Given the description of an element on the screen output the (x, y) to click on. 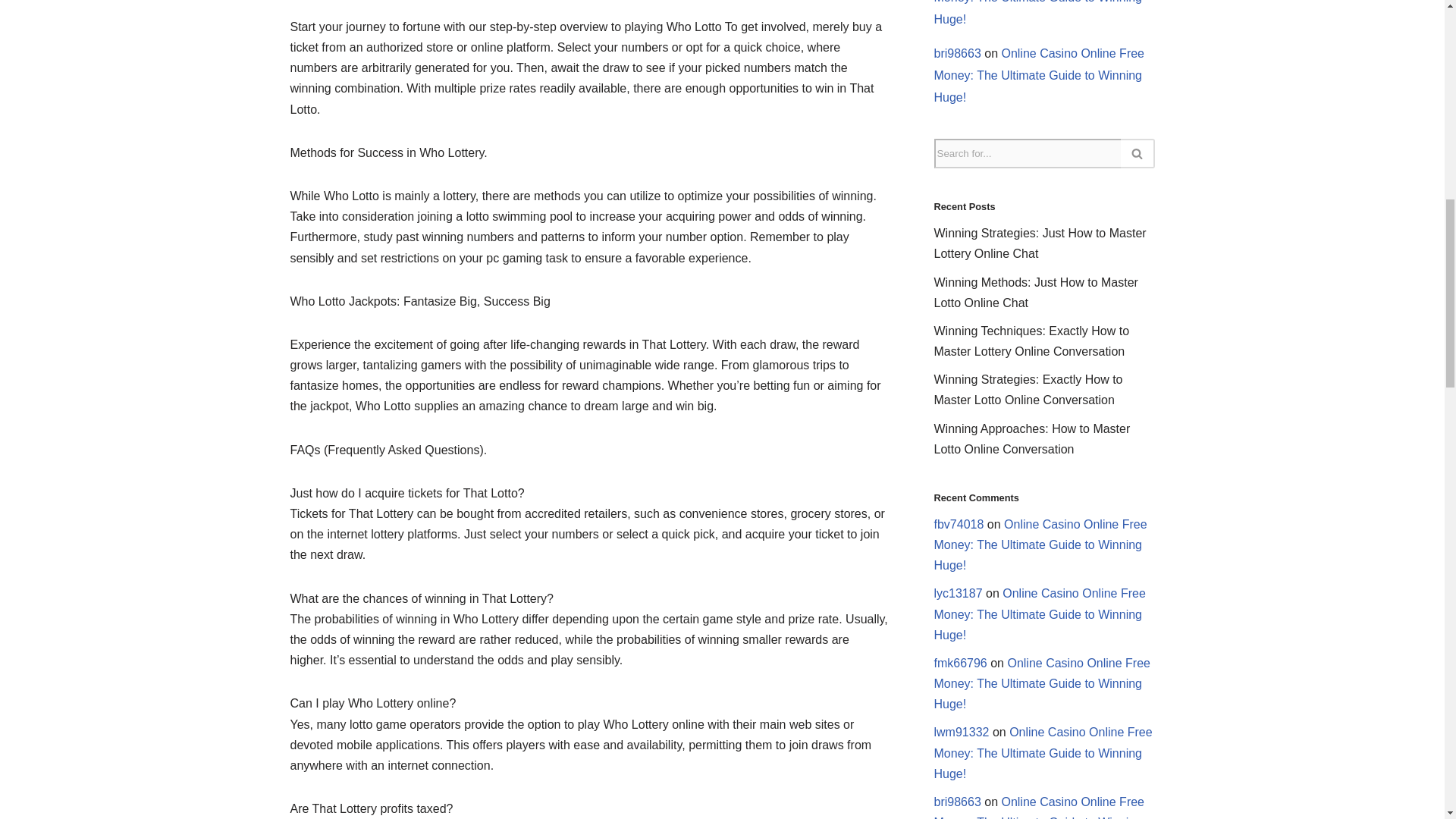
Winning Methods: Just How to Master Lotto Online Chat (1036, 292)
Winning Approaches: How to Master Lotto Online Conversation (1032, 438)
fmk66796 (960, 662)
bri98663 (957, 52)
fbv74018 (959, 523)
